Given the description of an element on the screen output the (x, y) to click on. 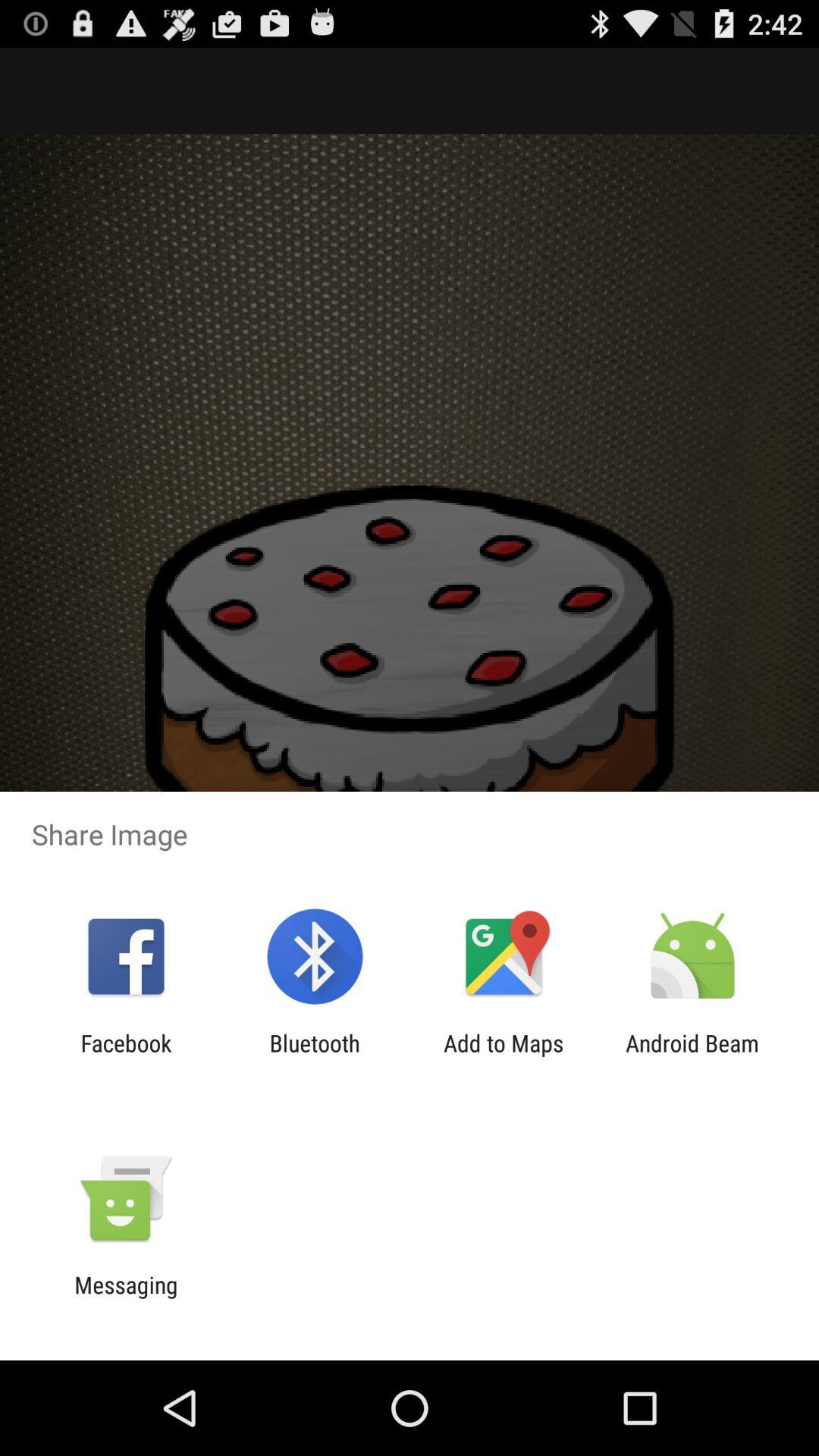
launch icon at the bottom right corner (692, 1056)
